Given the description of an element on the screen output the (x, y) to click on. 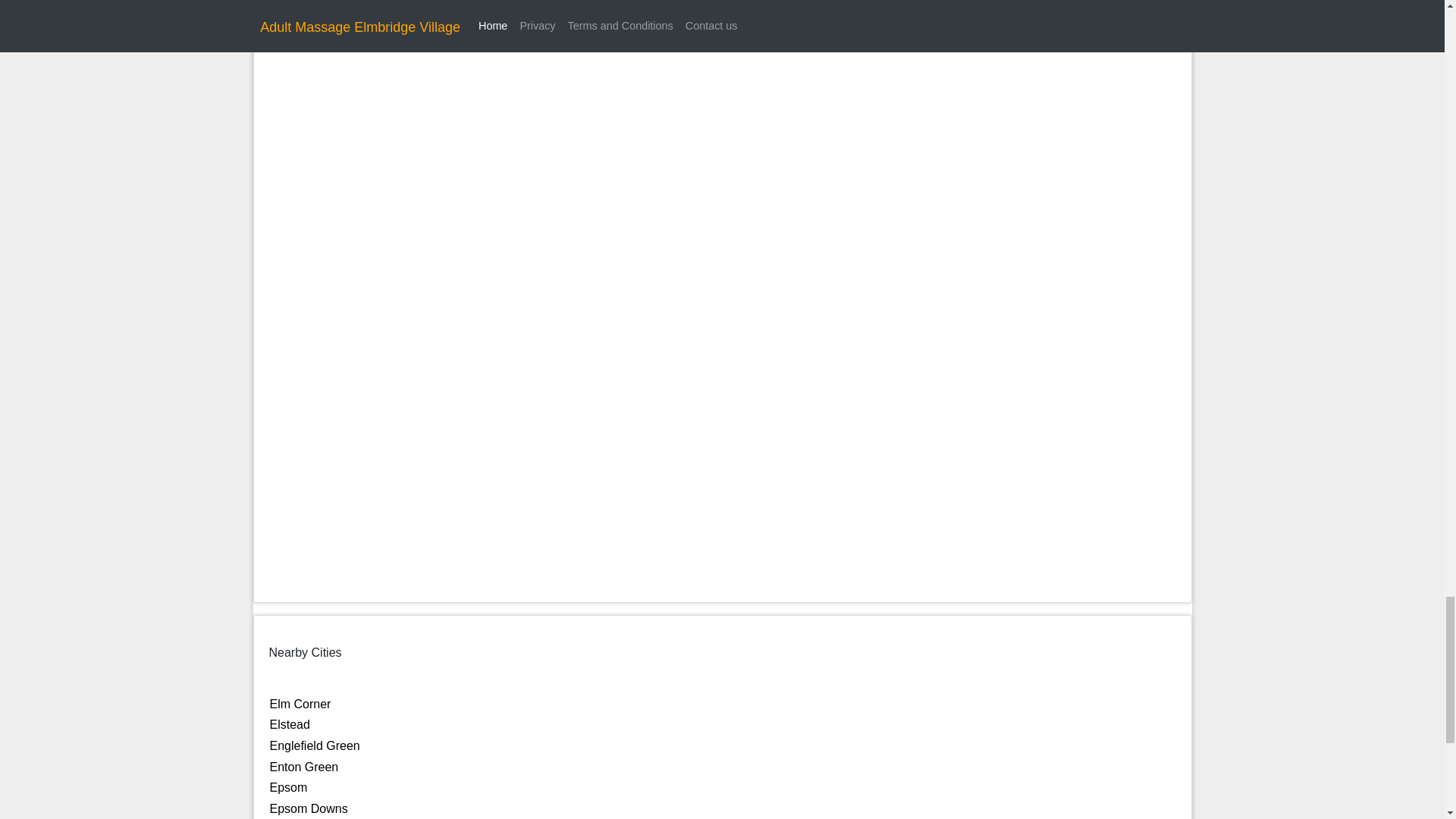
Elstead (289, 724)
Enton Green (304, 766)
Epsom Downs (308, 808)
Elm Corner (300, 703)
Epsom (288, 787)
Englefield Green (314, 745)
